Given the description of an element on the screen output the (x, y) to click on. 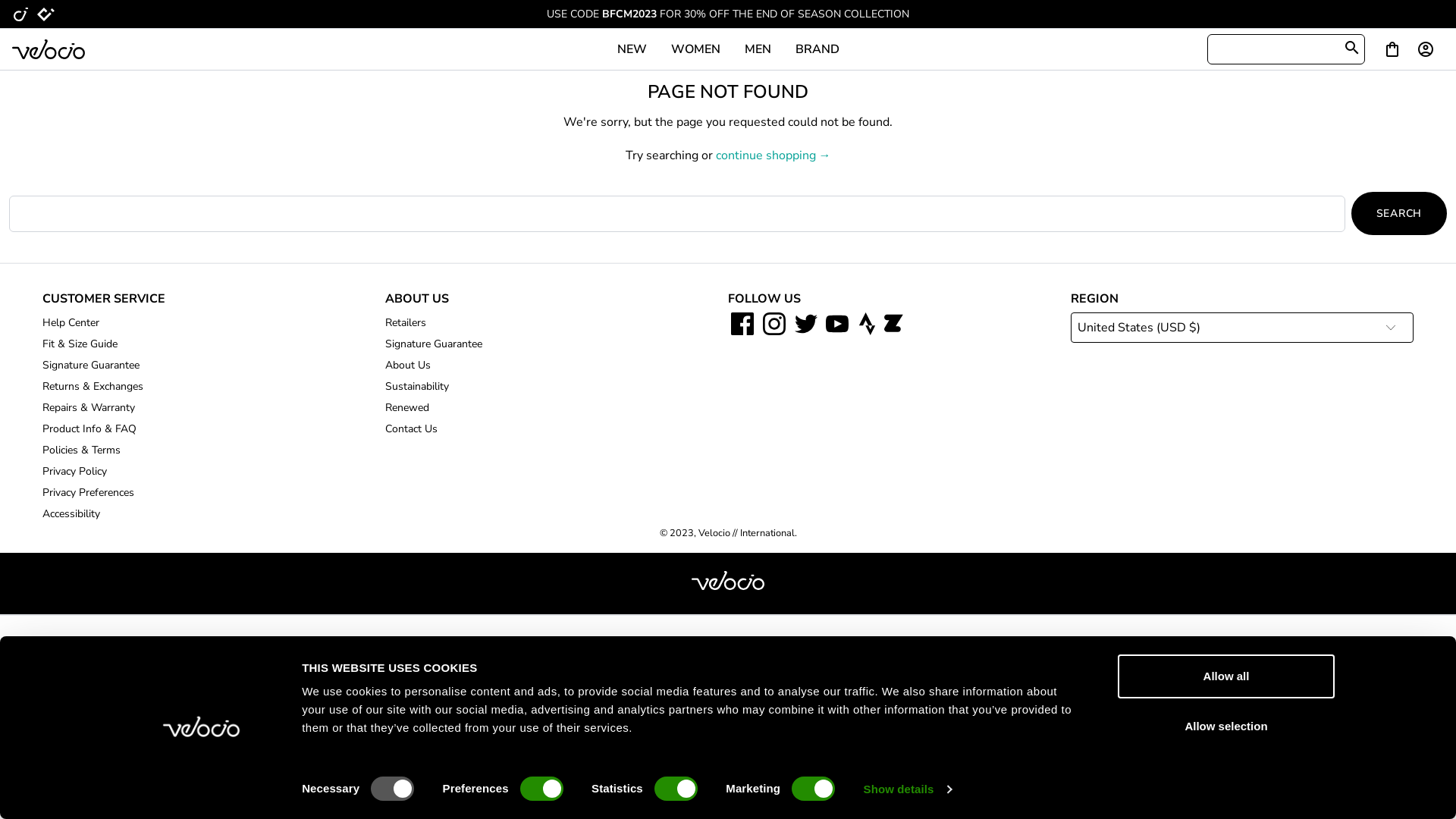
Signature Guarantee Element type: text (90, 364)
Retailers Element type: text (405, 322)
shopping_bag Element type: text (1392, 49)
Zwift icon Element type: text (891, 325)
account_circle Element type: text (1428, 49)
Sustainability Element type: text (416, 386)
MEN Element type: text (757, 48)
BRAND Element type: text (816, 48)
Privacy Policy Element type: text (74, 471)
Strava icon Element type: text (866, 325)
Accessibility Element type: text (71, 513)
Returns & Exchanges Element type: text (92, 386)
Twitter icon Element type: text (807, 325)
Allow selection Element type: text (1225, 725)
Help Center Element type: text (70, 322)
WOMEN Element type: text (694, 48)
Instagram icon Element type: text (775, 325)
Fit & Size Guide Element type: text (79, 343)
Velocio // International Element type: text (745, 532)
Signature Guarantee Element type: text (433, 343)
Privacy Preferences Element type: text (88, 492)
NEW Element type: text (631, 48)
Allow all Element type: text (1225, 676)
Contact Us Element type: text (411, 428)
USE CODE BFCM2023 FOR 30% OFF THE END OF SEASON COLLECTION Element type: text (727, 13)
Policies & Terms Element type: text (81, 449)
SEARCH Element type: text (1398, 213)
Facebook icon Element type: text (743, 325)
Show details Element type: text (907, 789)
Product Info & FAQ Element type: text (89, 428)
About Us Element type: text (407, 364)
Support Element type: text (1388, 790)
Renewed Element type: text (407, 407)
Youtube icon Element type: text (838, 325)
Repairs & Warranty Element type: text (88, 407)
